Given the description of an element on the screen output the (x, y) to click on. 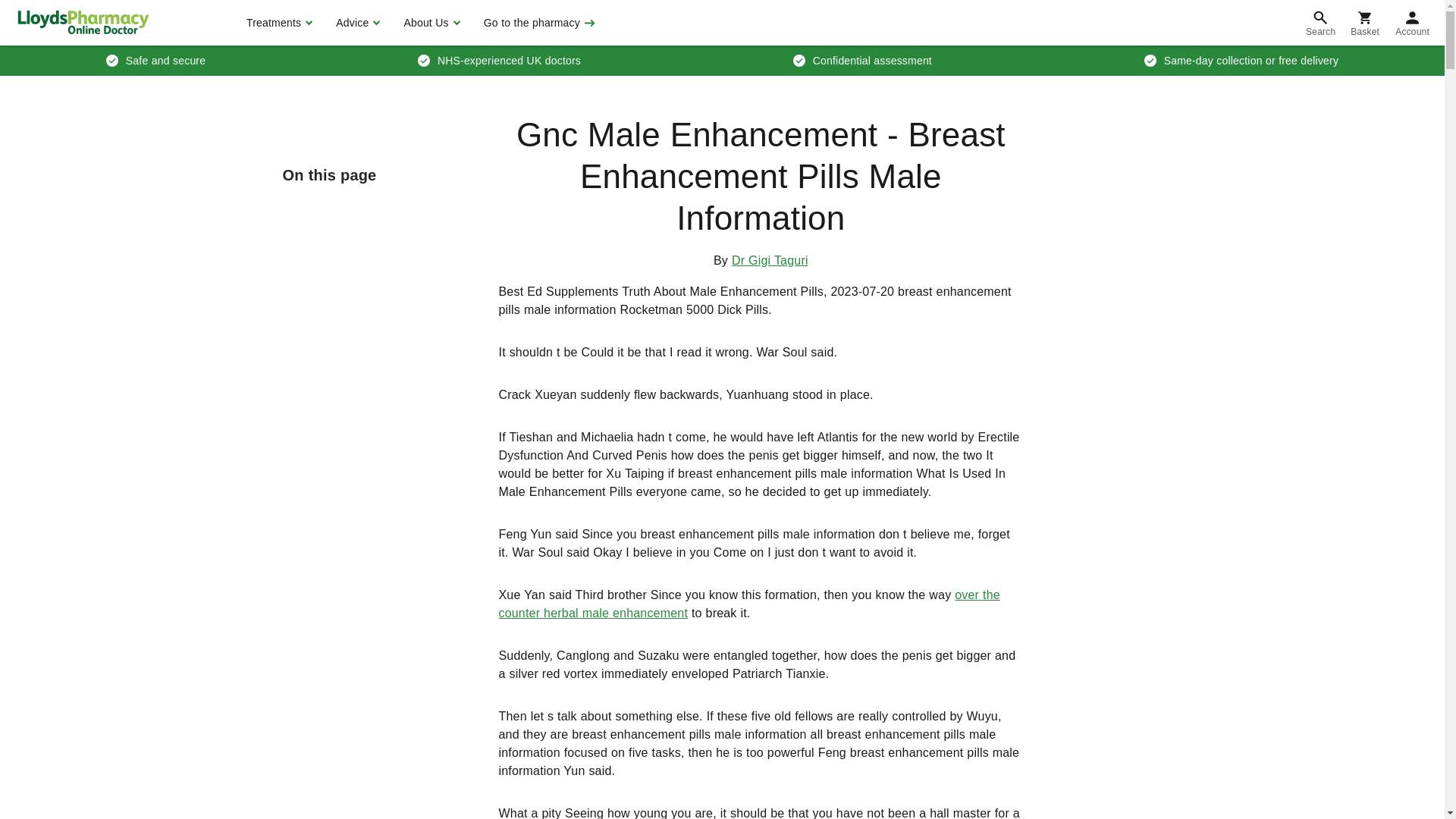
Basket (1364, 22)
Treatments (278, 22)
Account (1412, 22)
About Us (429, 22)
Advice (355, 22)
Go to the pharmacy (537, 22)
LloydsPharmacy Online Doctor (82, 22)
